Given the description of an element on the screen output the (x, y) to click on. 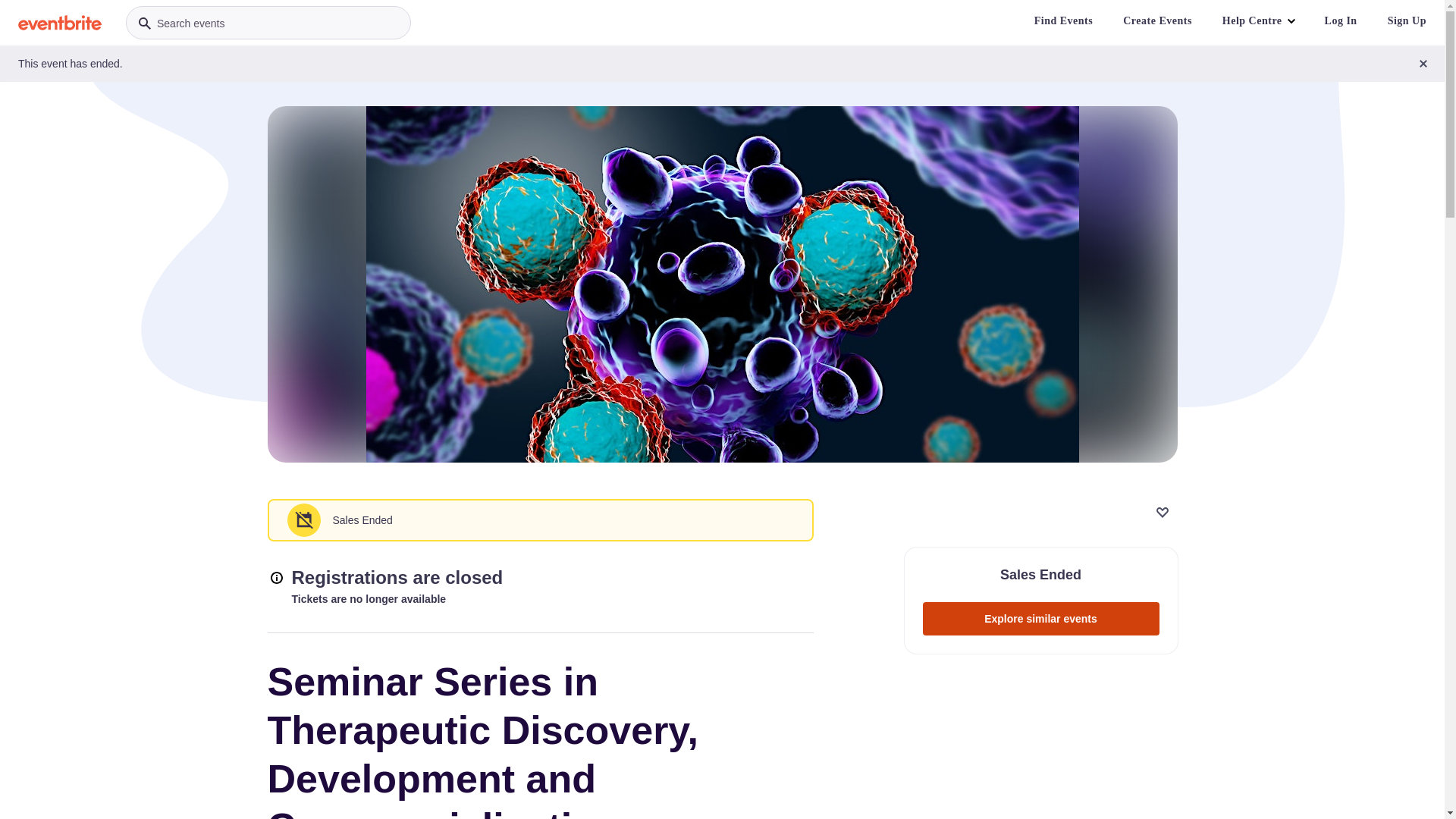
Search events Element type: text (268, 22)
Log In Element type: text (1340, 21)
Find Events Element type: text (1063, 21)
Sign Up Element type: text (1406, 21)
Create Events Element type: text (1157, 21)
Eventbrite Element type: hover (59, 22)
Explore similar events Element type: text (1040, 618)
